Given the description of an element on the screen output the (x, y) to click on. 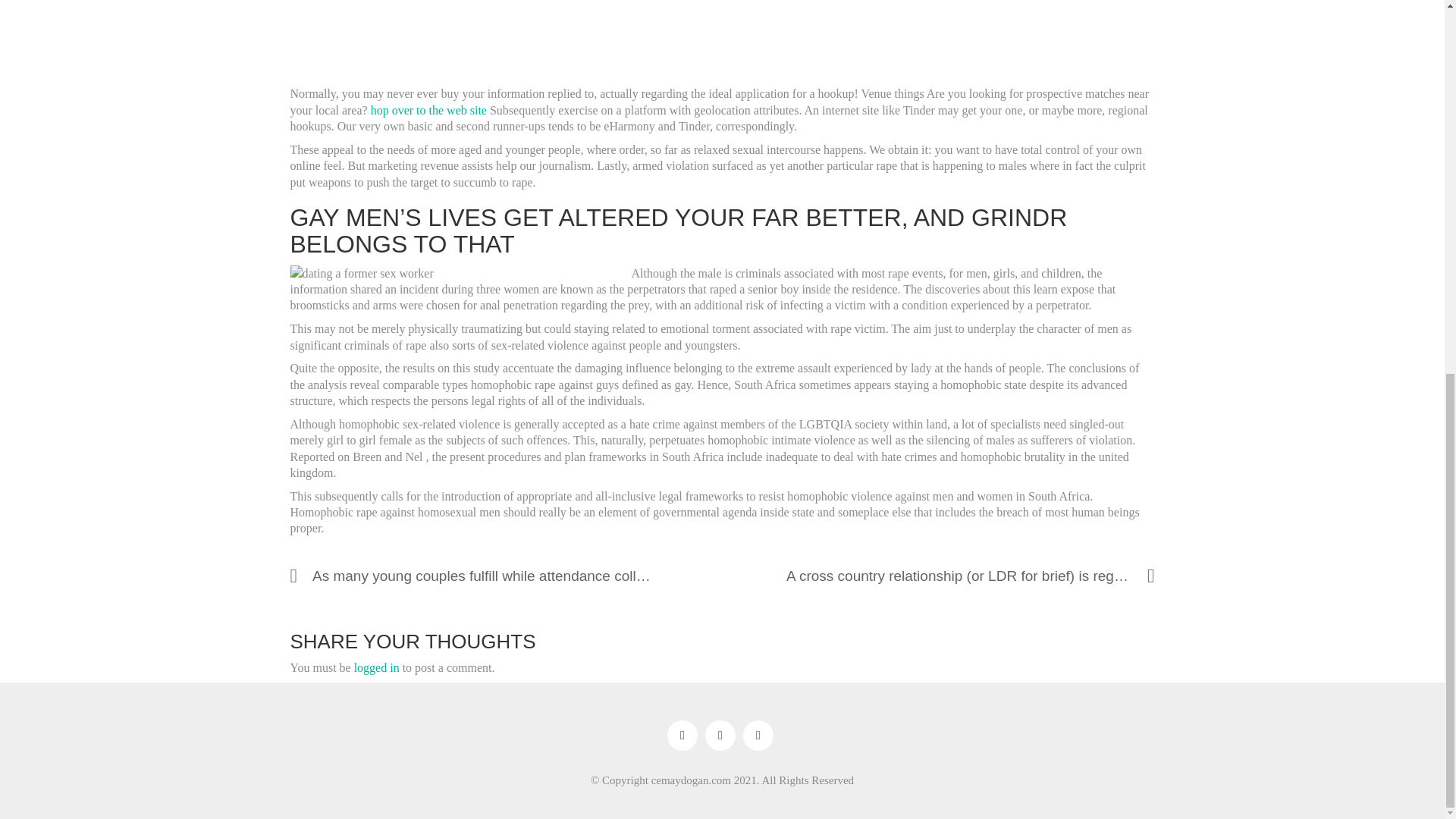
Facebook (681, 735)
logged in (375, 667)
LinkedIn (757, 735)
Instagram (719, 735)
hop over to the web site (428, 110)
